Given the description of an element on the screen output the (x, y) to click on. 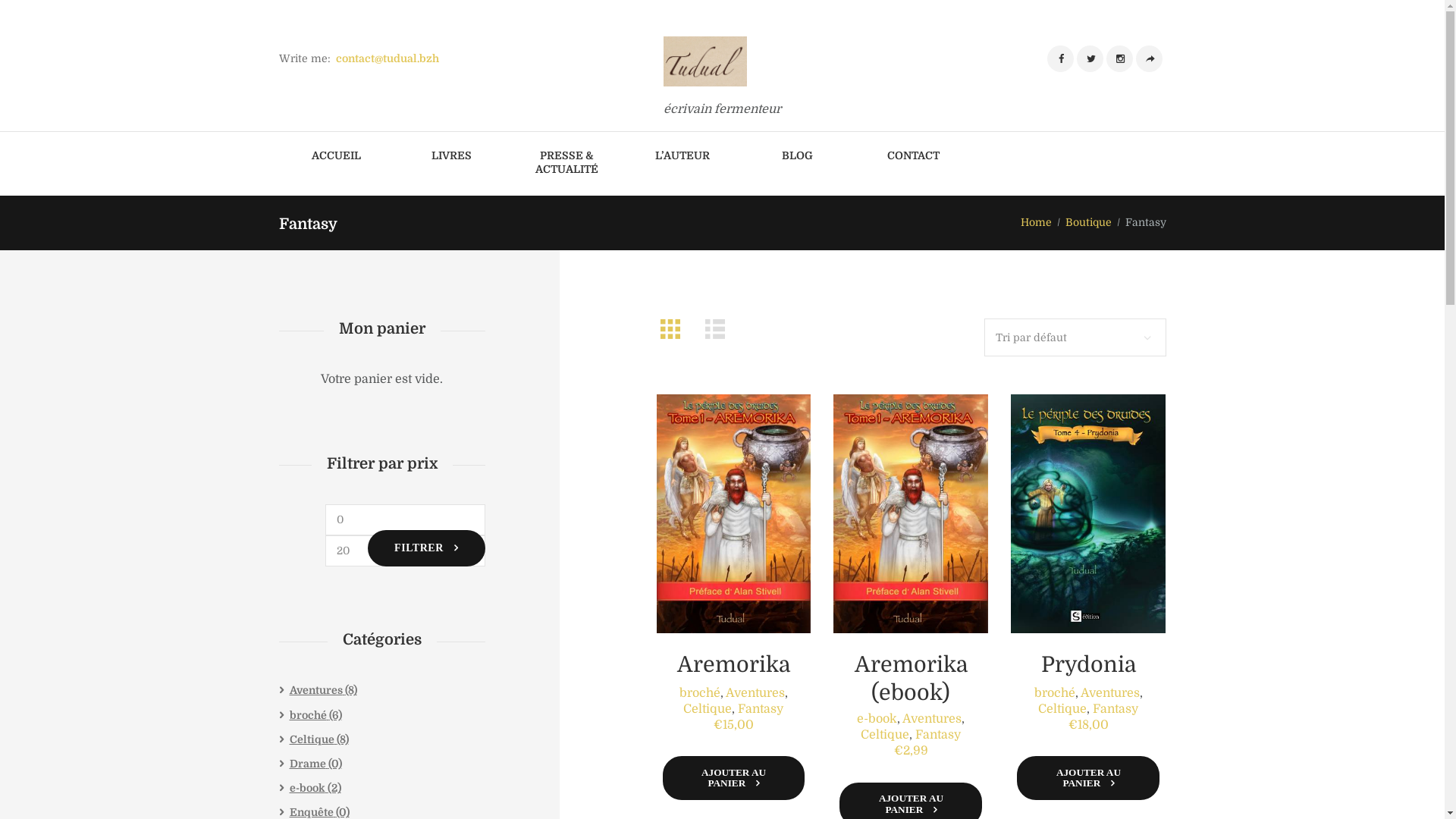
Aventures Element type: text (1109, 692)
e-book Element type: text (307, 787)
Celtique Element type: text (311, 739)
Aventures Element type: text (754, 692)
LIVRES Element type: text (451, 156)
Celtique Element type: text (707, 708)
Aremorika Element type: text (733, 664)
contact@tudual.bzh Element type: text (387, 58)
Celtique Element type: text (1062, 708)
AJOUTER AU PANIER Element type: text (733, 778)
Boutique Element type: text (1087, 222)
FILTRER Element type: text (425, 547)
Drame Element type: text (307, 763)
CONTACT Element type: text (912, 156)
Fantasy Element type: text (760, 708)
Fantasy Element type: text (1115, 708)
Show products as thumbs Element type: hover (674, 329)
Celtique Element type: text (884, 734)
e-book Element type: text (876, 718)
Aventures Element type: text (931, 718)
AJOUTER AU PANIER Element type: text (1087, 778)
Aventures Element type: text (315, 690)
Prydonia Element type: text (1088, 664)
Show products as list Element type: hover (719, 329)
Aremorika (ebook) Element type: text (910, 678)
BLOG Element type: text (797, 156)
Home Element type: text (1035, 222)
ACCUEIL Element type: text (336, 156)
Fantasy Element type: text (937, 734)
